Given the description of an element on the screen output the (x, y) to click on. 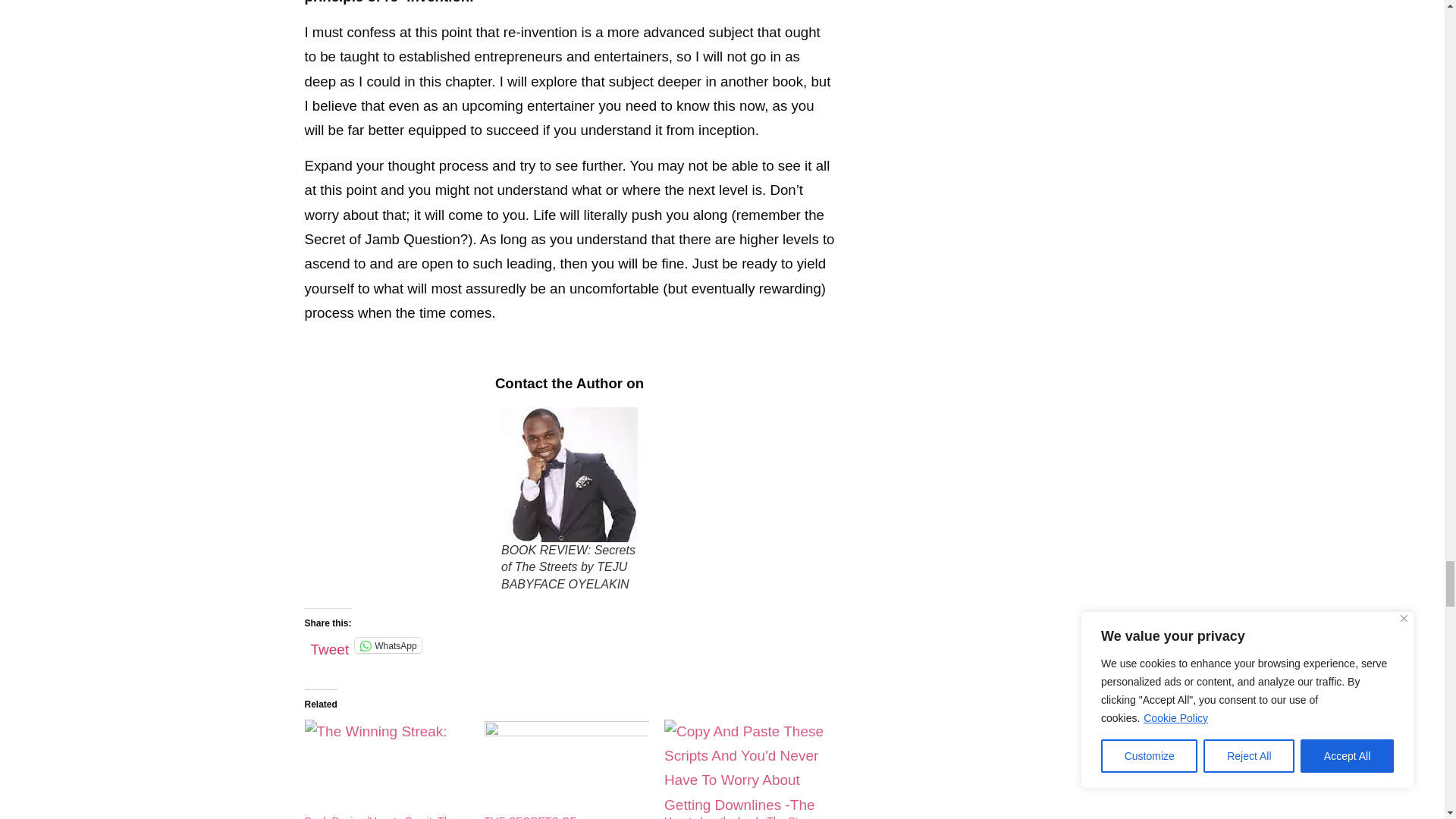
Click to share on WhatsApp (387, 645)
